Given the description of an element on the screen output the (x, y) to click on. 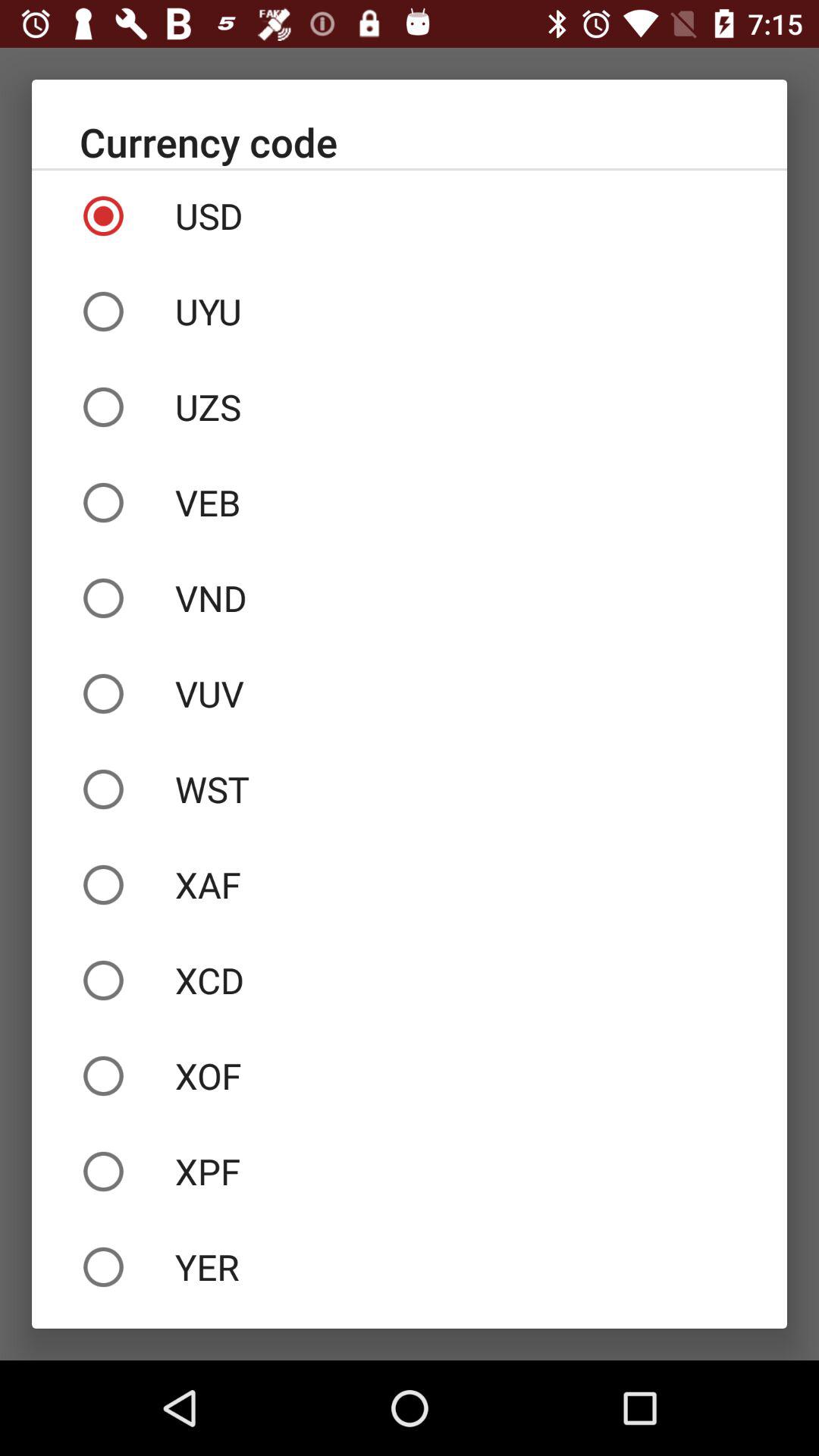
tap item below yer item (409, 1321)
